Given the description of an element on the screen output the (x, y) to click on. 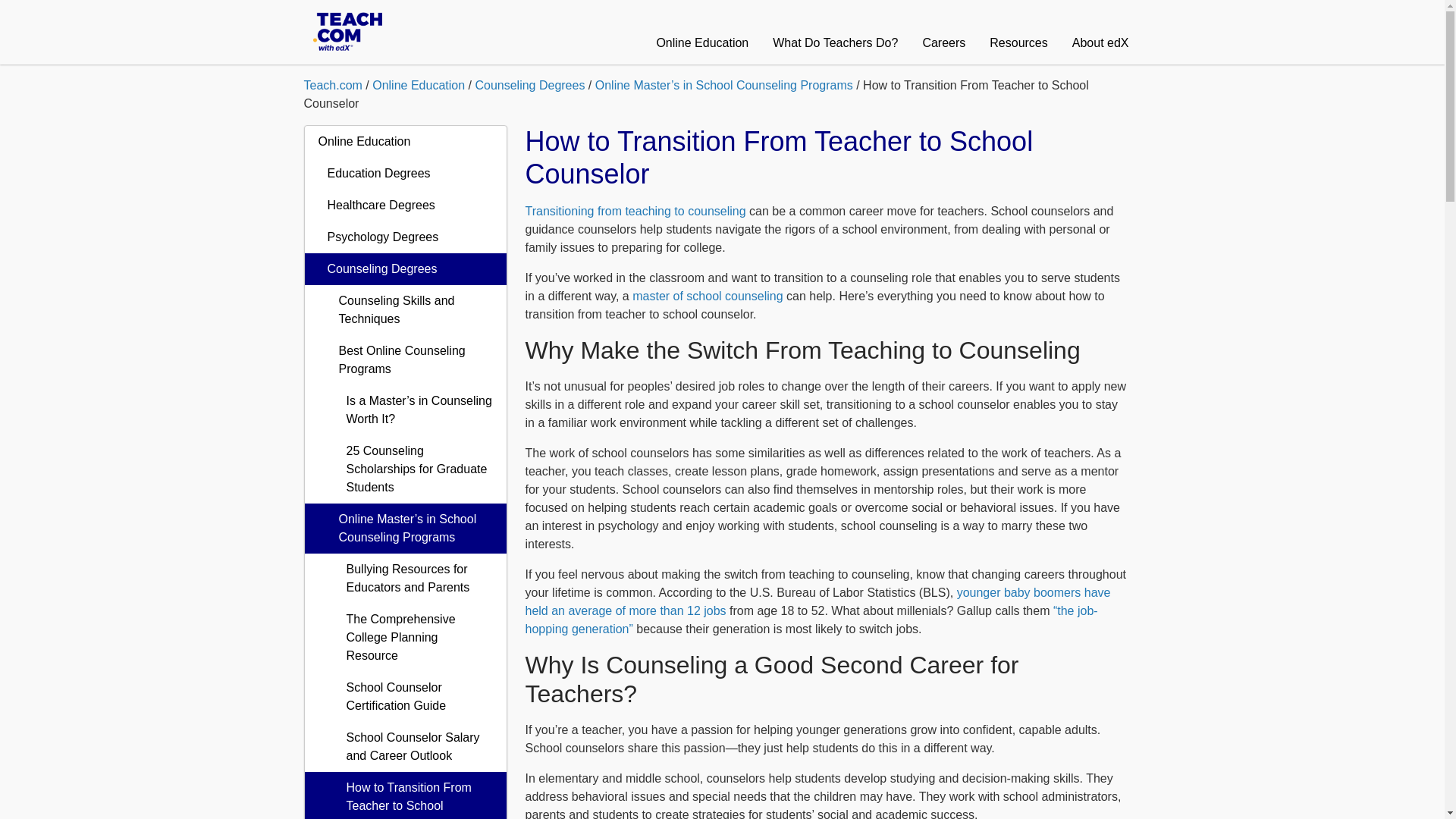
Online Education (701, 32)
